Given the description of an element on the screen output the (x, y) to click on. 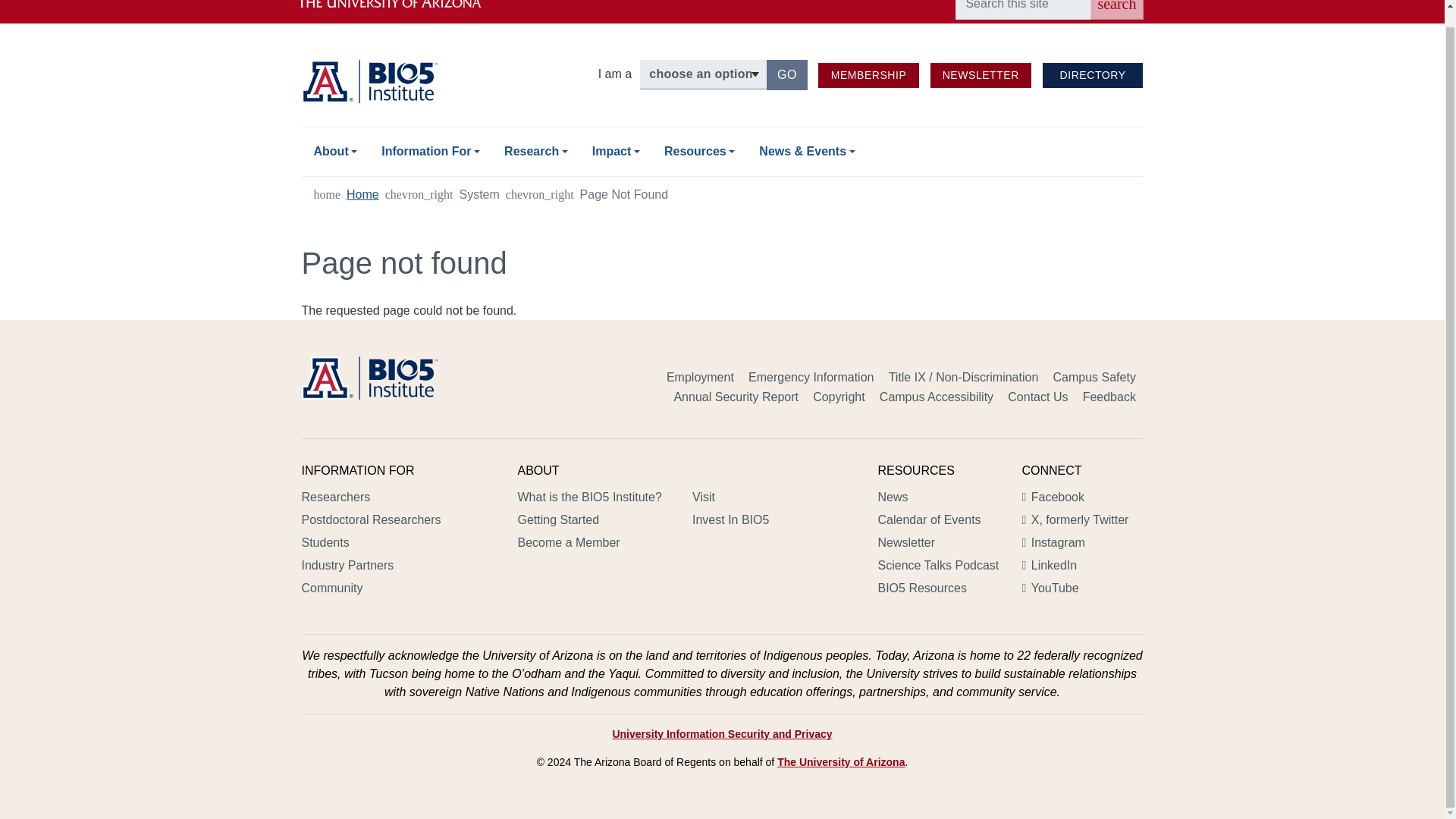
MEMBERSHIP (868, 75)
Information For (430, 151)
DIRECTORY (1092, 75)
Resources (699, 151)
Enter the terms you wish to search for. (1022, 9)
About (787, 74)
Become a Member (335, 151)
Impact (868, 75)
The University of Arizona homepage (615, 151)
search (401, 11)
NEWSLETTER (1116, 9)
Research (980, 75)
